Given the description of an element on the screen output the (x, y) to click on. 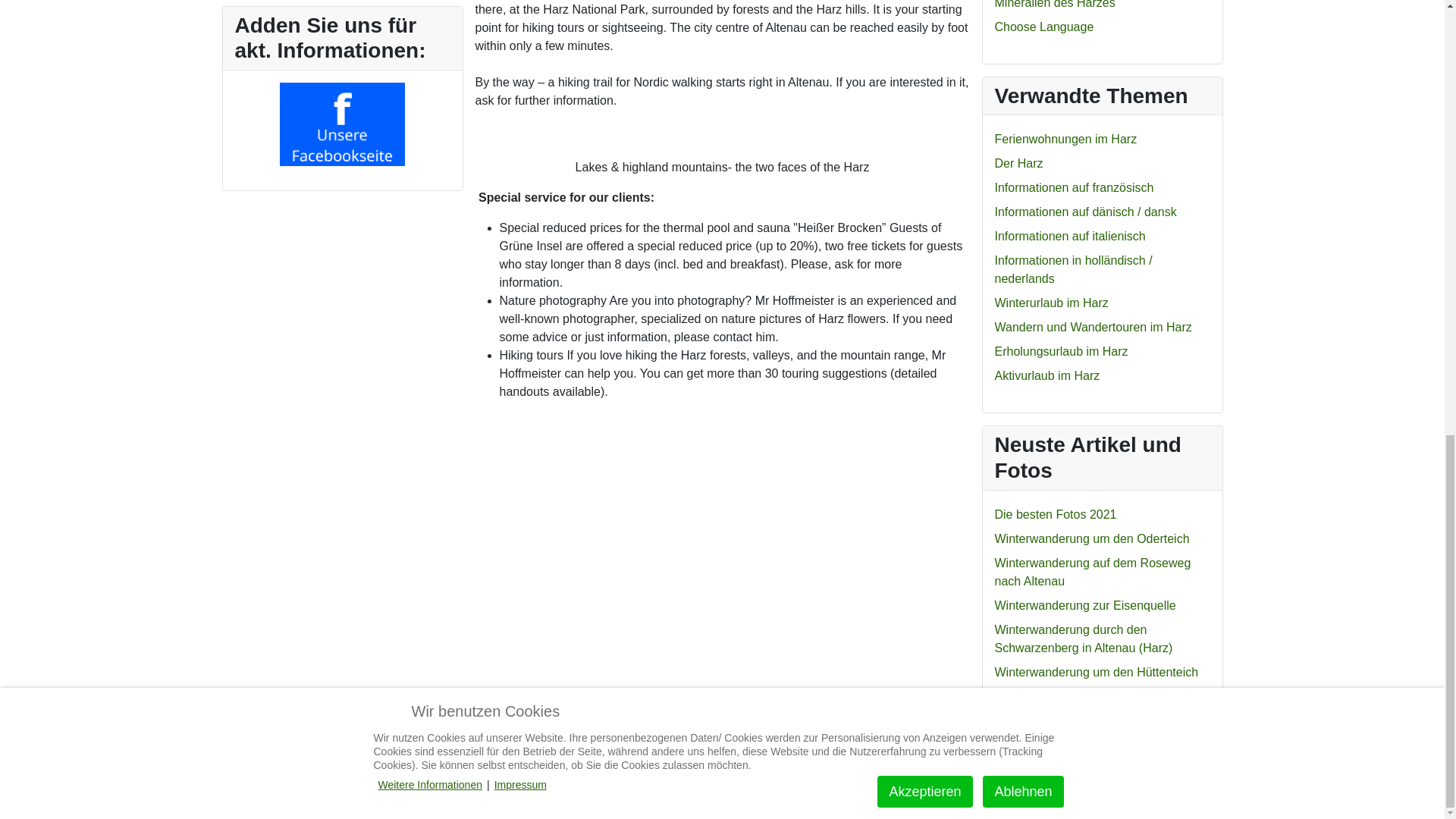
Adden Sie uns bei Facebook (341, 124)
